Given the description of an element on the screen output the (x, y) to click on. 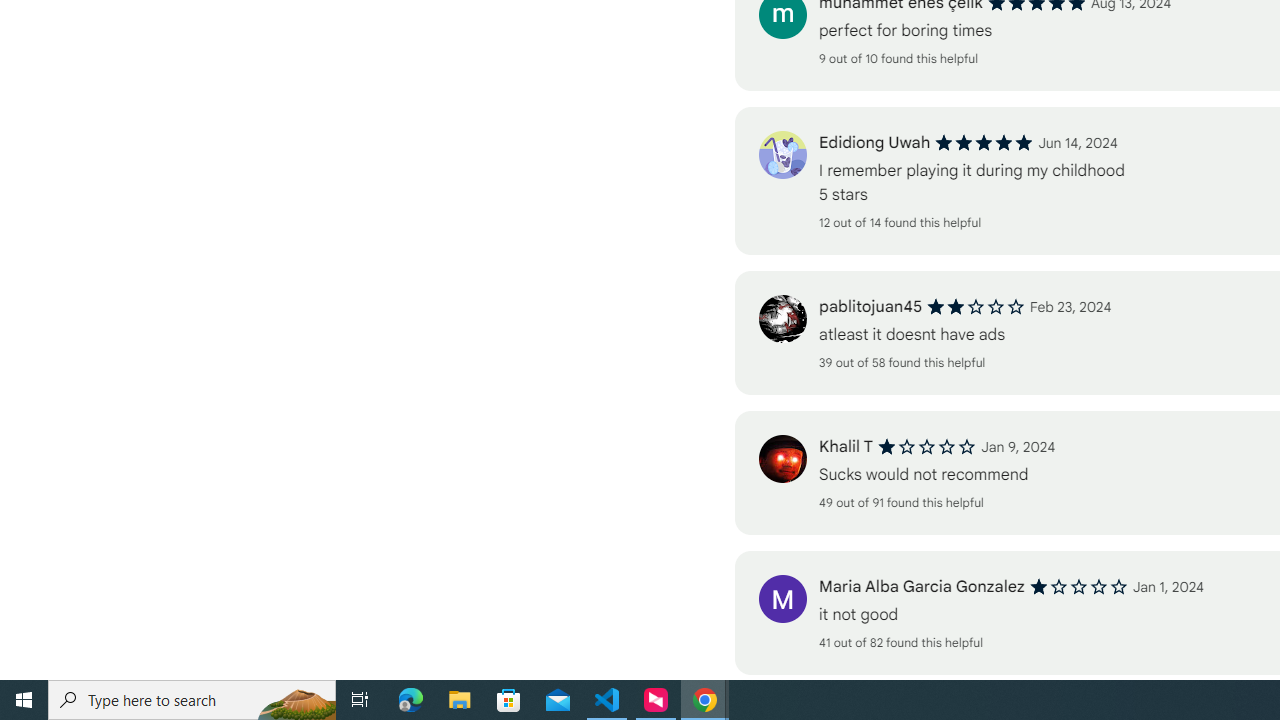
1 out of 5 stars (1077, 587)
5 out of 5 stars (984, 142)
Review's profile picture (782, 598)
2 out of 5 stars (975, 306)
